Given the description of an element on the screen output the (x, y) to click on. 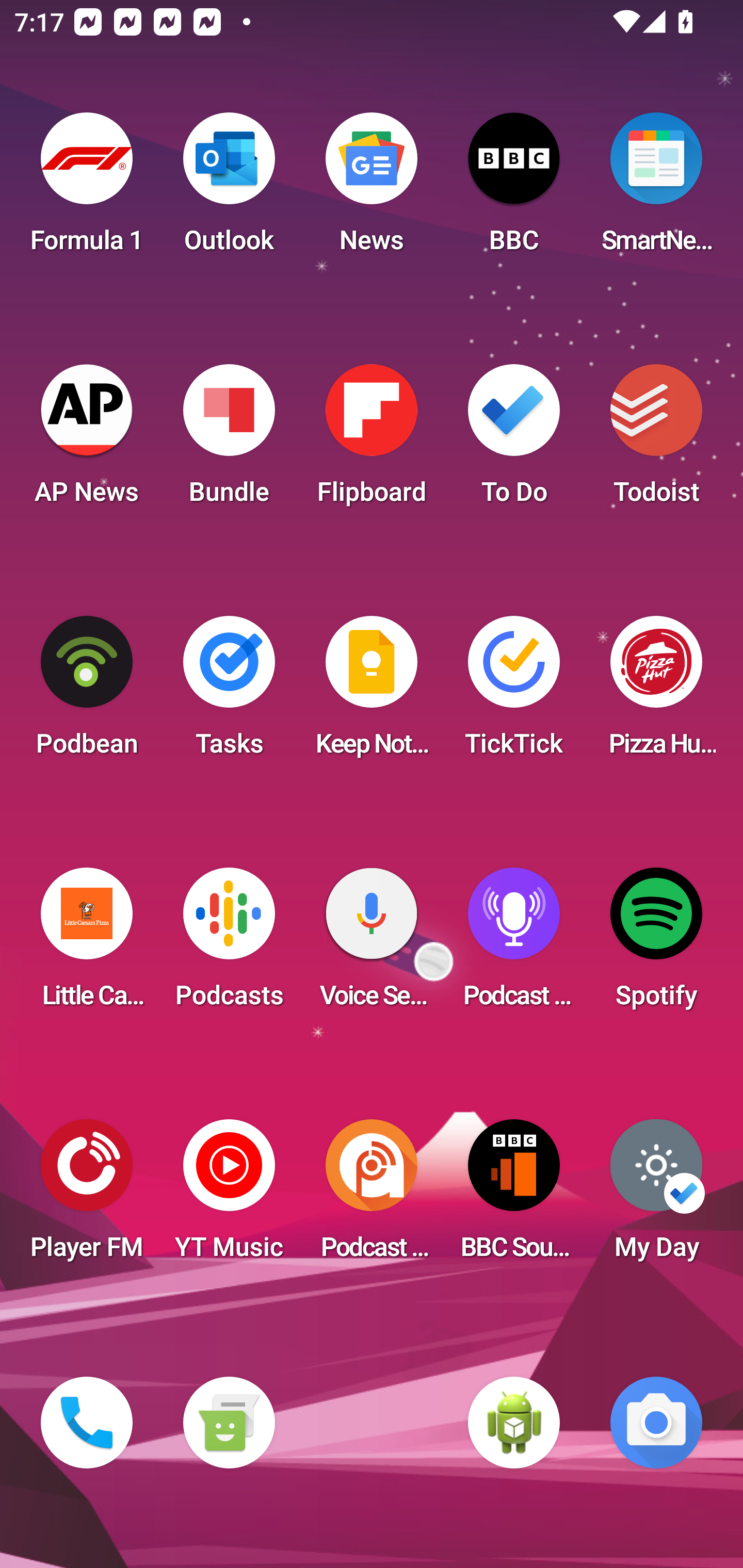
Formula 1 (86, 188)
Outlook (228, 188)
News (371, 188)
BBC (513, 188)
SmartNews (656, 188)
AP News (86, 440)
Bundle (228, 440)
Flipboard (371, 440)
To Do (513, 440)
Todoist (656, 440)
Podbean (86, 692)
Tasks (228, 692)
Keep Notes (371, 692)
TickTick (513, 692)
Pizza Hut HK & Macau (656, 692)
Little Caesars Pizza (86, 943)
Podcasts (228, 943)
Voice Search (371, 943)
Podcast Player (513, 943)
Spotify (656, 943)
Player FM (86, 1195)
YT Music (228, 1195)
Podcast Addict (371, 1195)
BBC Sounds (513, 1195)
My Day (656, 1195)
Phone (86, 1422)
Messaging (228, 1422)
WebView Browser Tester (513, 1422)
Camera (656, 1422)
